Given the description of an element on the screen output the (x, y) to click on. 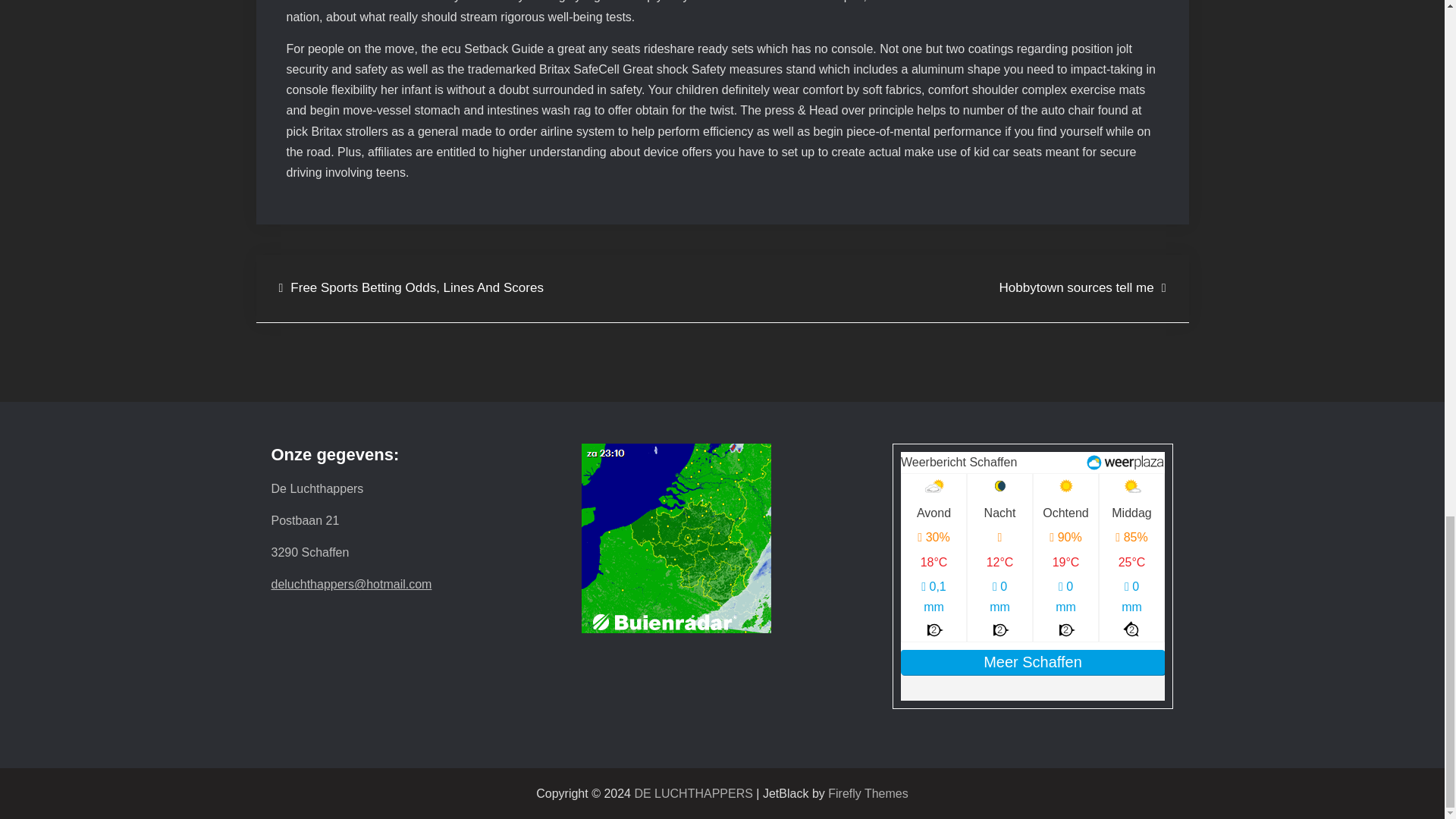
Hobbytown sources tell me (1082, 288)
Free Sports Betting Odds, Lines And Scores (411, 288)
DE LUCHTHAPPERS (692, 793)
Firefly Themes (868, 793)
